Given the description of an element on the screen output the (x, y) to click on. 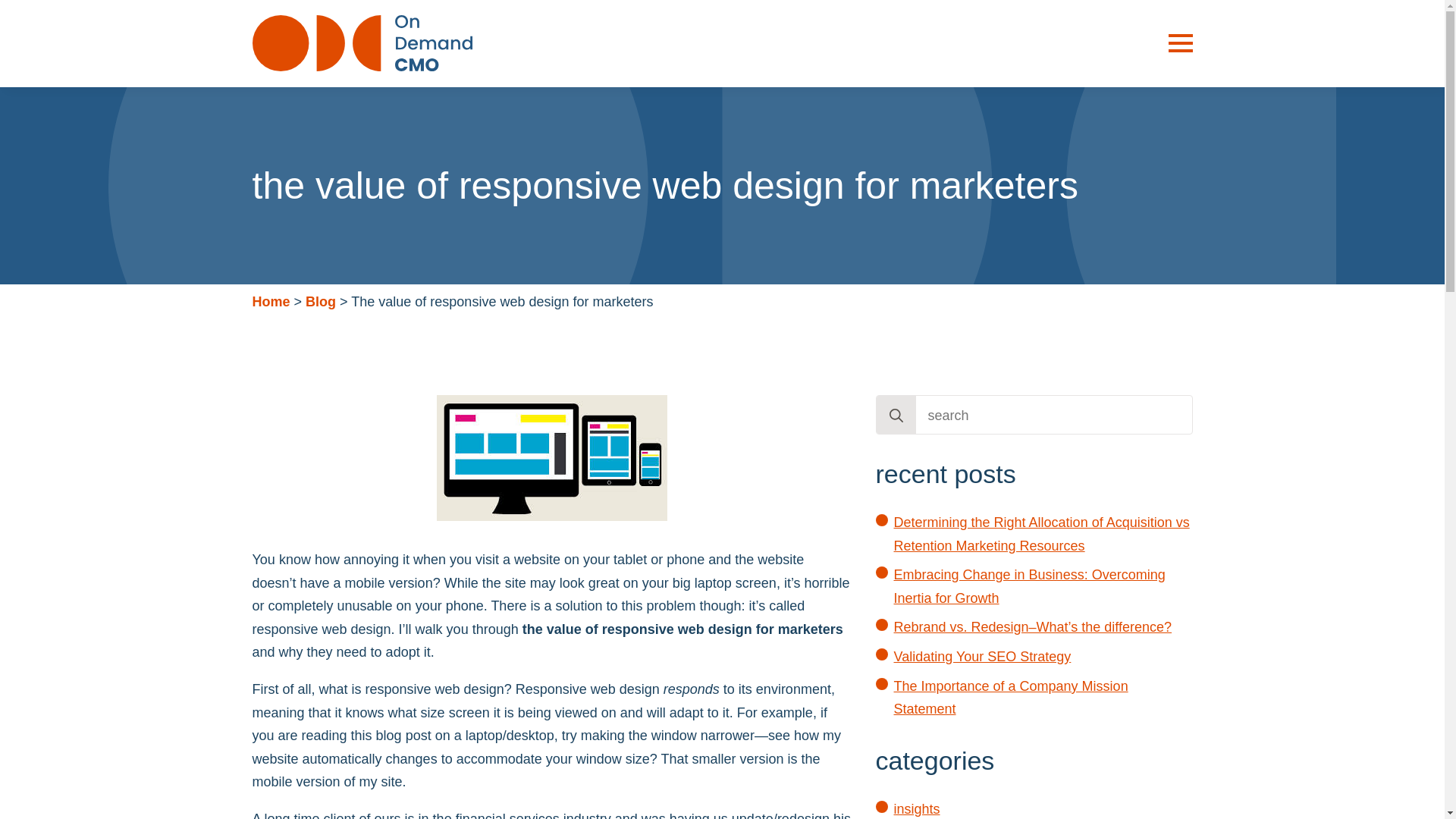
Home (270, 301)
Validating Your SEO Strategy (981, 656)
Blog (320, 301)
The Importance of a Company Mission Statement (1009, 697)
Embracing Change in Business: Overcoming Inertia for Growth (1028, 586)
insights (916, 808)
